Given the description of an element on the screen output the (x, y) to click on. 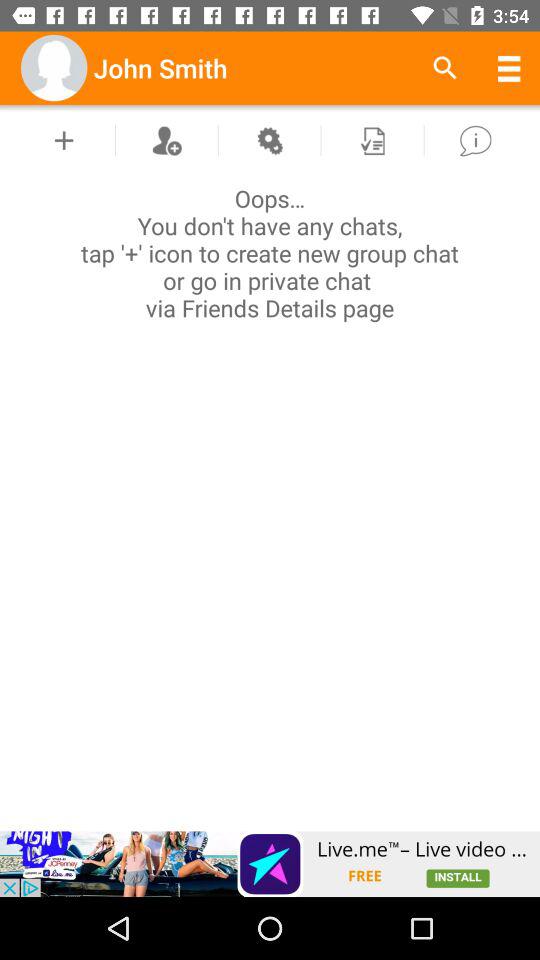
get more information (475, 140)
